Given the description of an element on the screen output the (x, y) to click on. 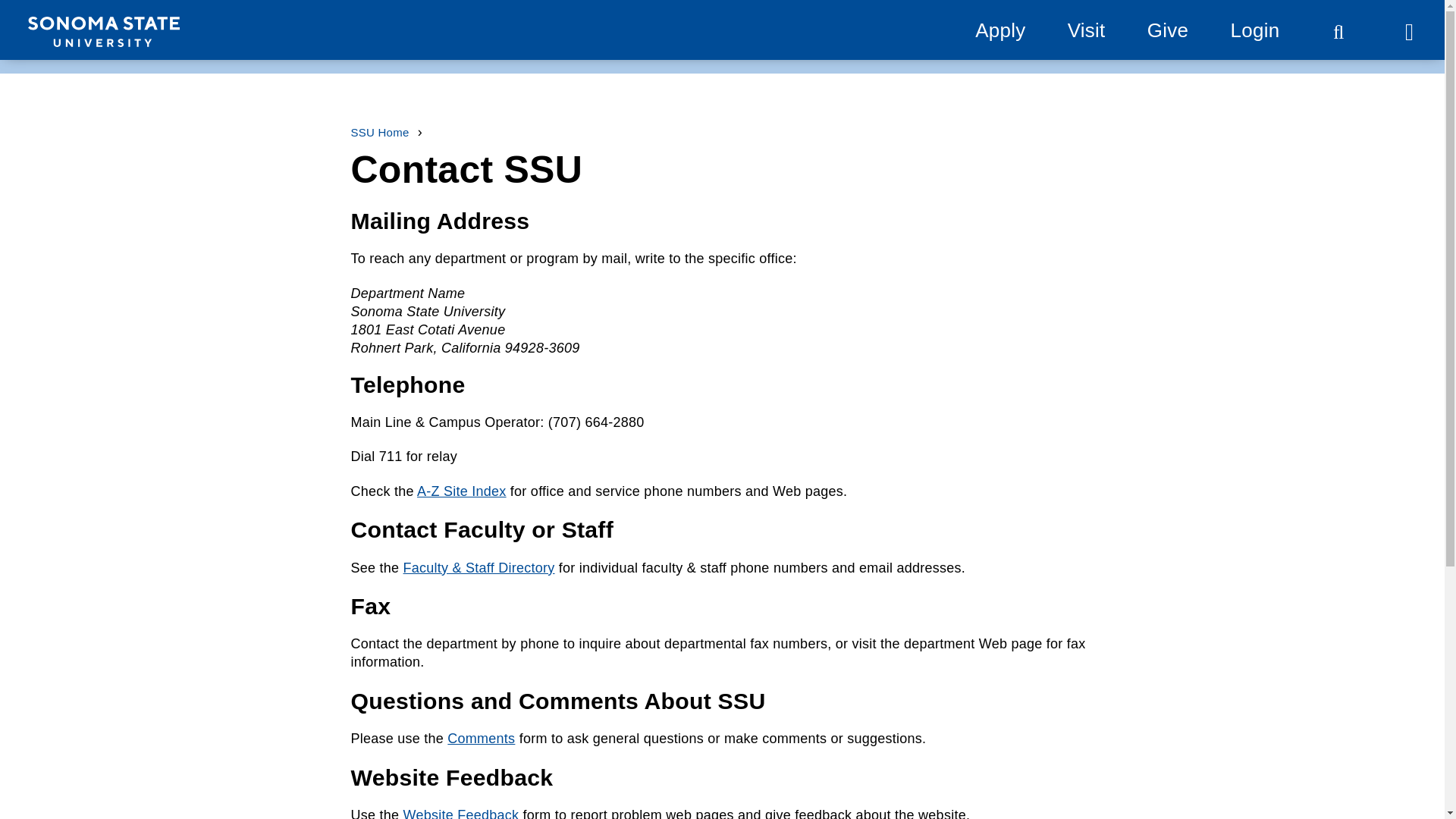
Visit (1086, 30)
Jump to content (69, 19)
Apply (1000, 30)
Login (1254, 30)
Give (1167, 30)
